Given the description of an element on the screen output the (x, y) to click on. 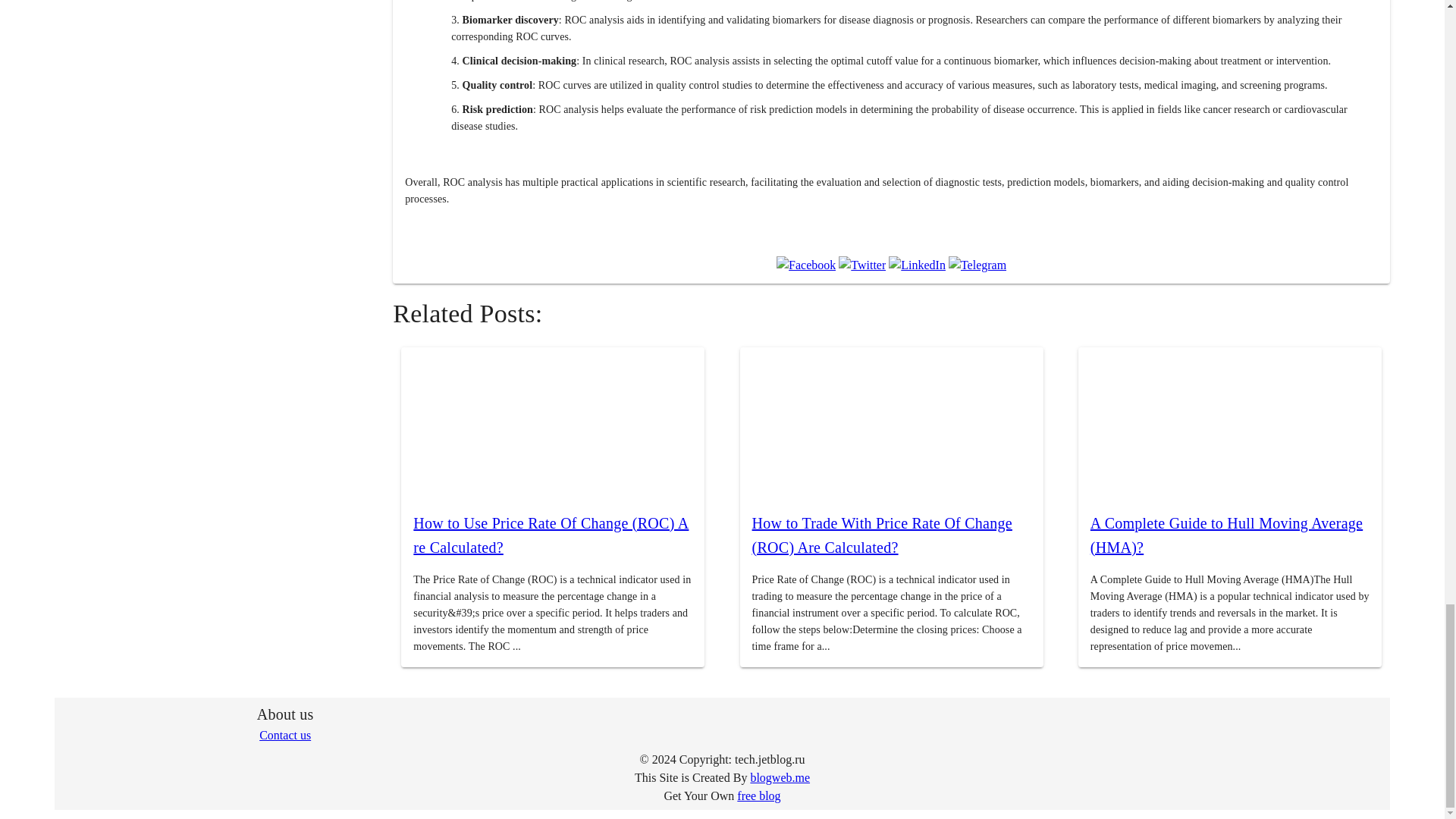
Twitter (861, 265)
LinkedIn (916, 265)
Facebook (805, 265)
Telegram (977, 265)
